Given the description of an element on the screen output the (x, y) to click on. 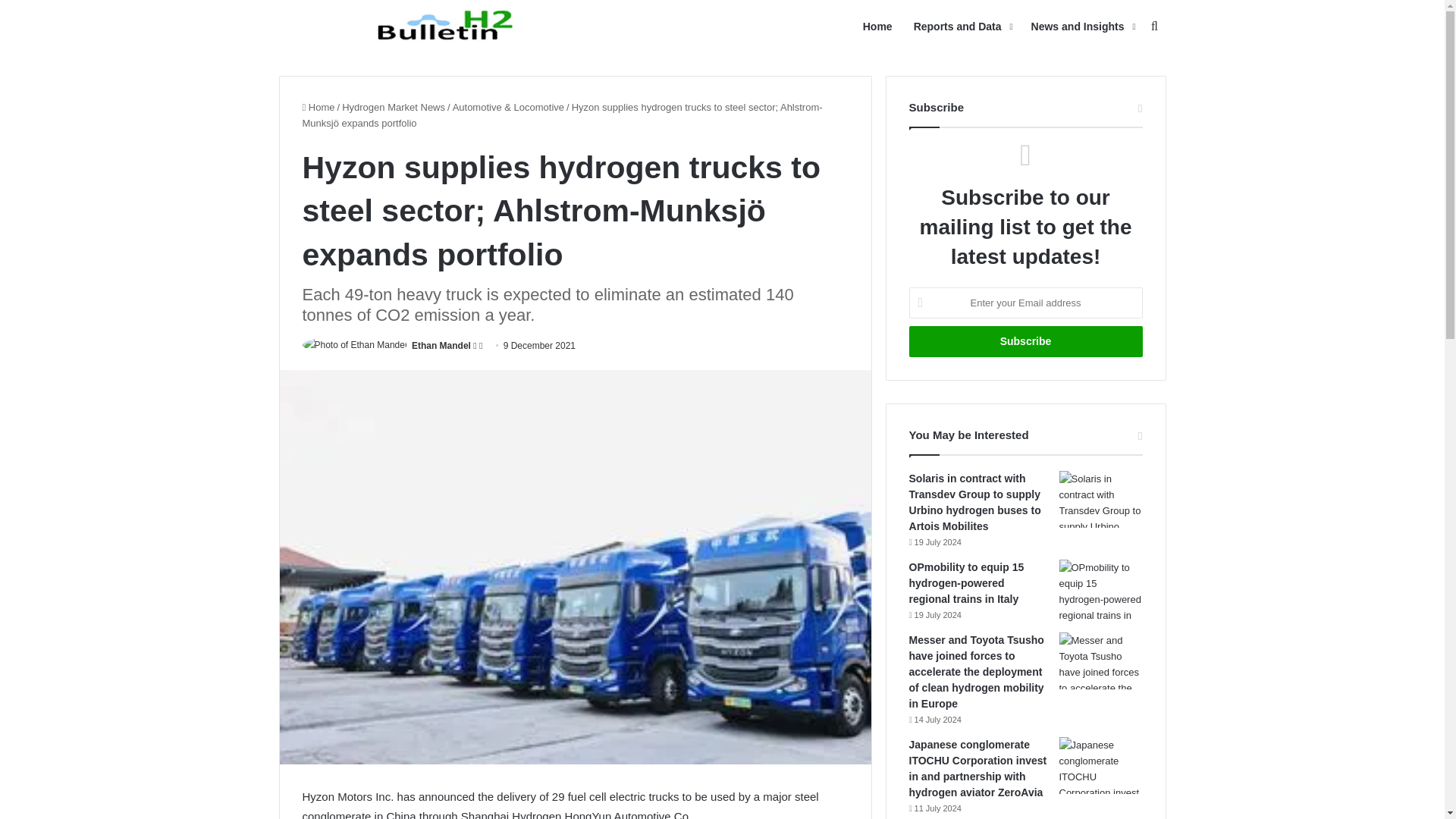
Subscribe (1025, 341)
H2 Bulletin (449, 26)
Ethan Mandel (441, 345)
Home (317, 107)
Ethan Mandel (441, 345)
News and Insights (1081, 26)
Home (876, 26)
Reports and Data (961, 26)
Hydrogen Market News (393, 107)
